Given the description of an element on the screen output the (x, y) to click on. 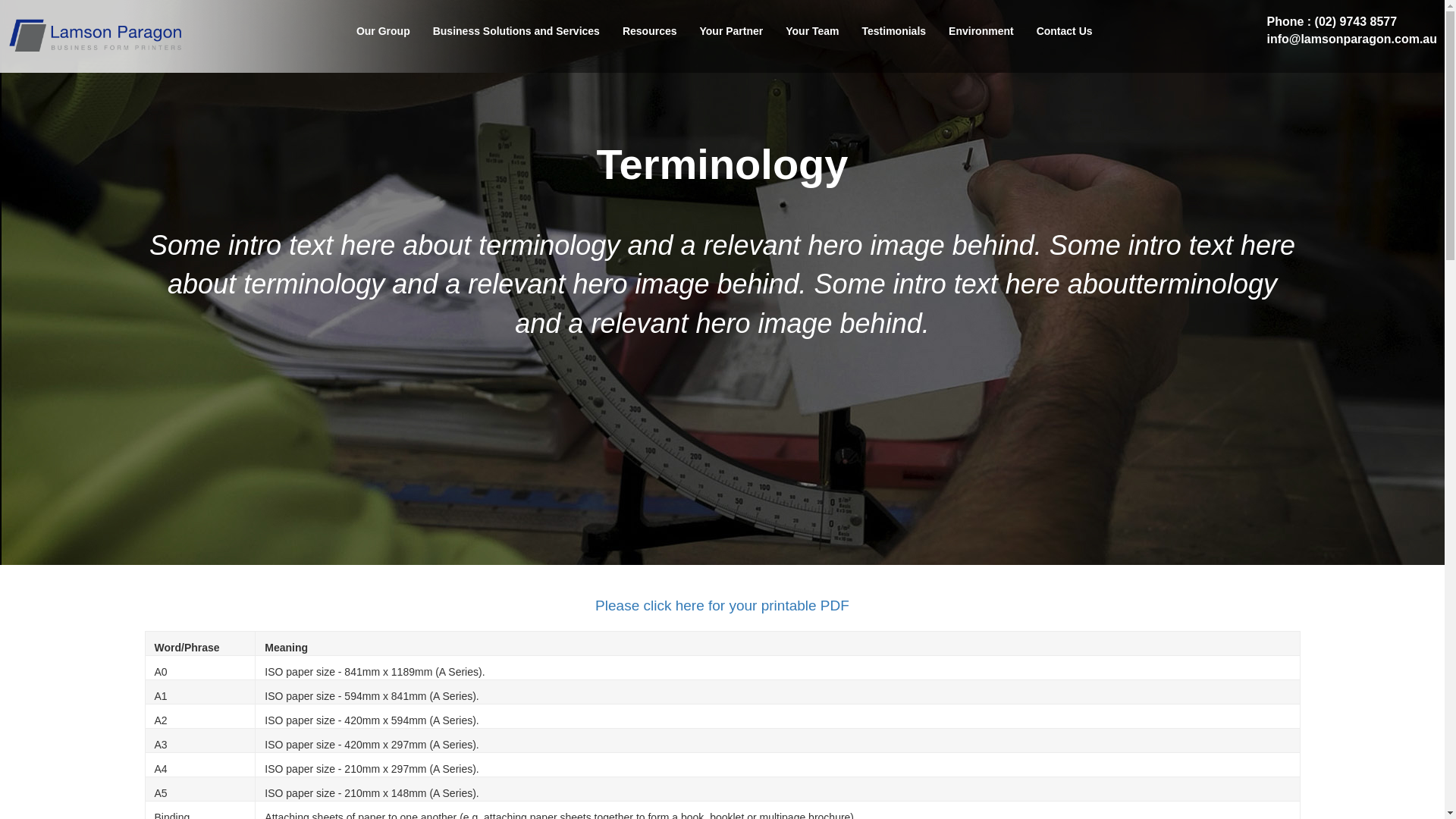
Your Team Element type: text (811, 31)
(02) 9743 8577 Element type: text (1355, 21)
Please click here for your printable PDF Element type: text (722, 605)
Environment Element type: text (980, 31)
info@lamsonparagon.com.au Element type: text (1351, 38)
Your Partner Element type: text (730, 31)
Our Group Element type: text (383, 31)
Business Solutions and Services Element type: text (516, 31)
Contact Us Element type: text (1064, 31)
Resources Element type: text (649, 31)
Testimonials Element type: text (894, 31)
